Given the description of an element on the screen output the (x, y) to click on. 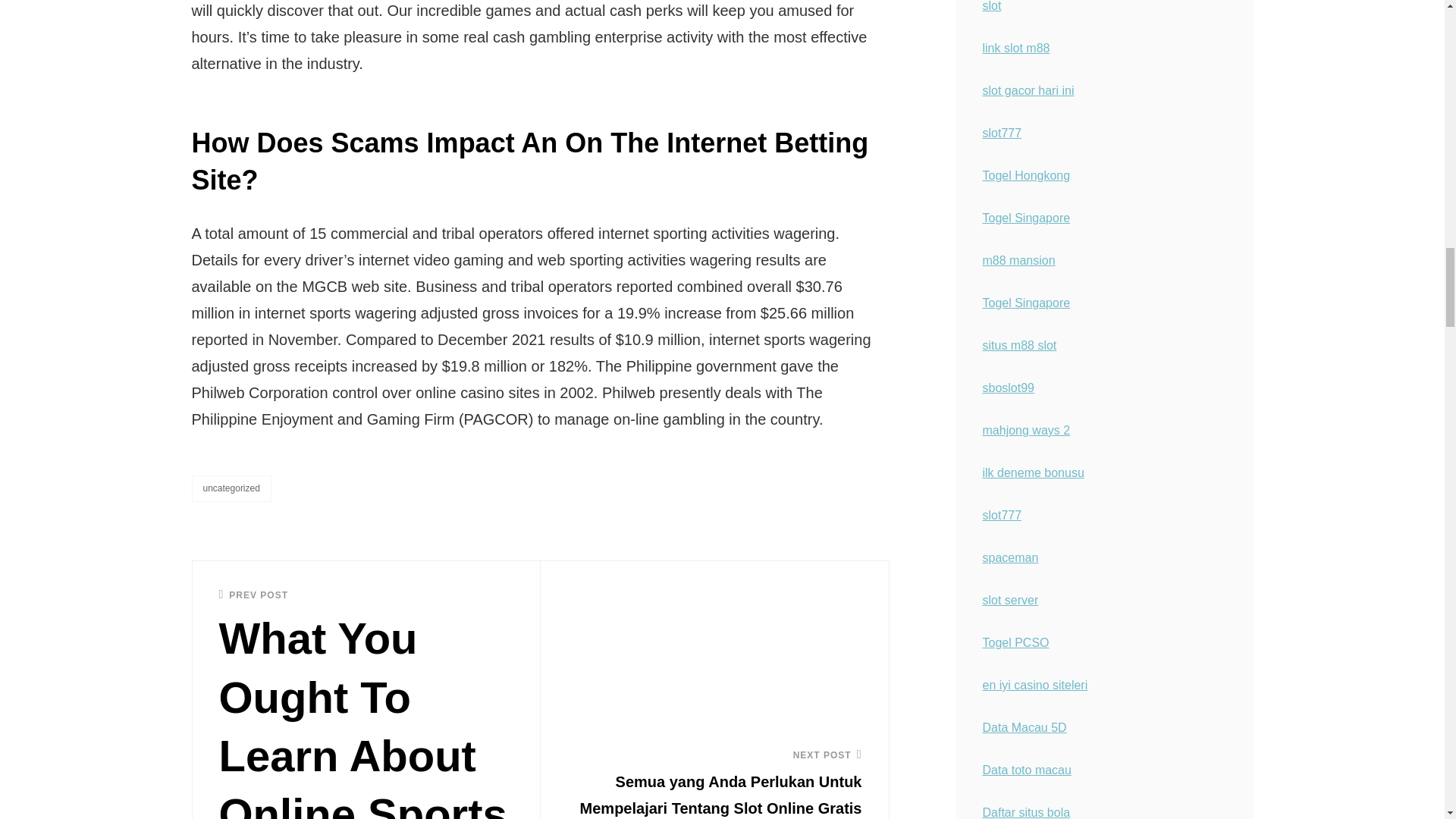
uncategorized (230, 488)
